Given the description of an element on the screen output the (x, y) to click on. 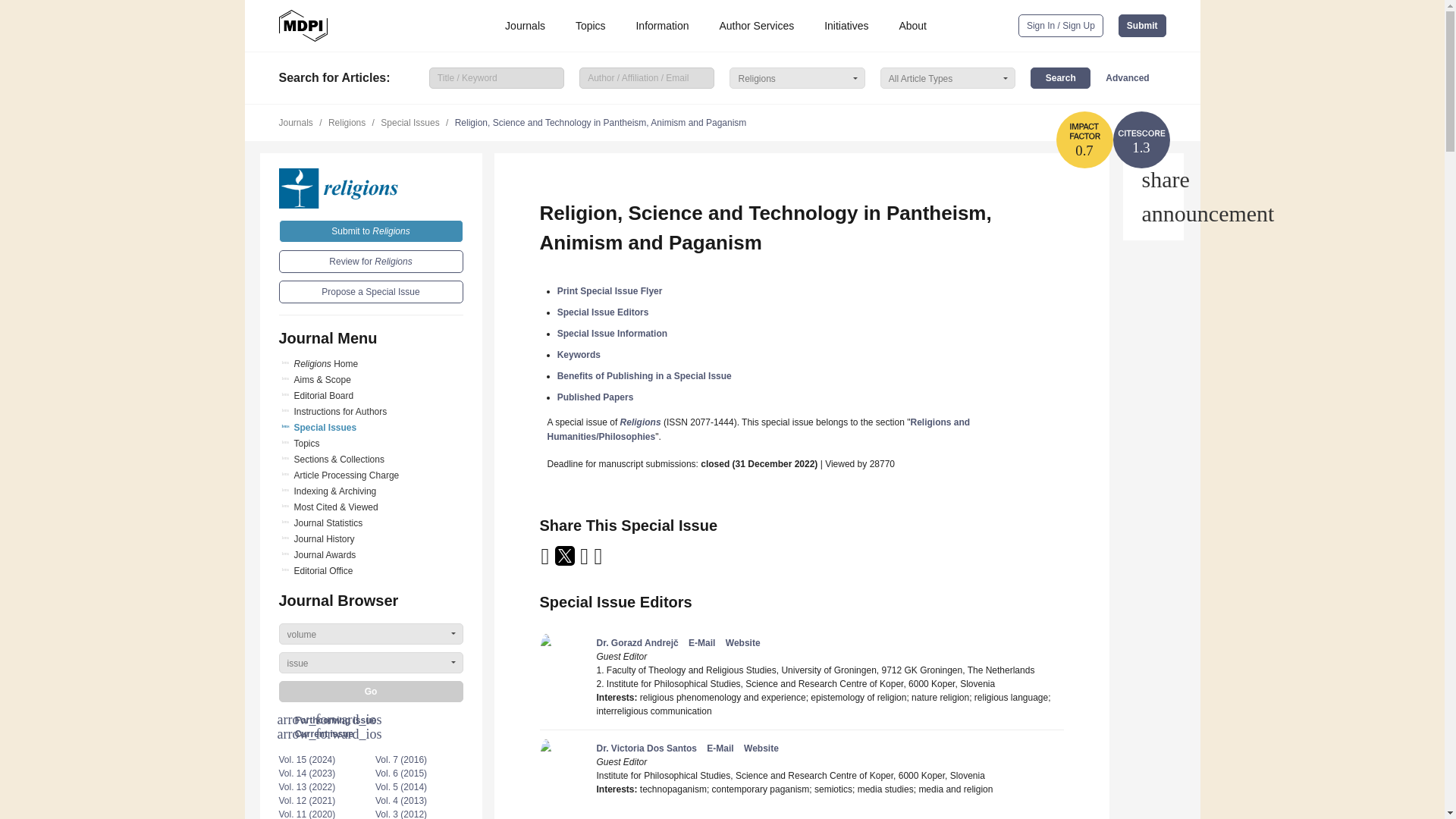
Go (371, 690)
Religions (371, 188)
Email (546, 561)
Search (1060, 77)
MDPI Open Access Journals (303, 25)
Share (1152, 179)
facebook (599, 561)
LinkedIn (585, 561)
Wechat (617, 561)
Twitter (565, 561)
